Given the description of an element on the screen output the (x, y) to click on. 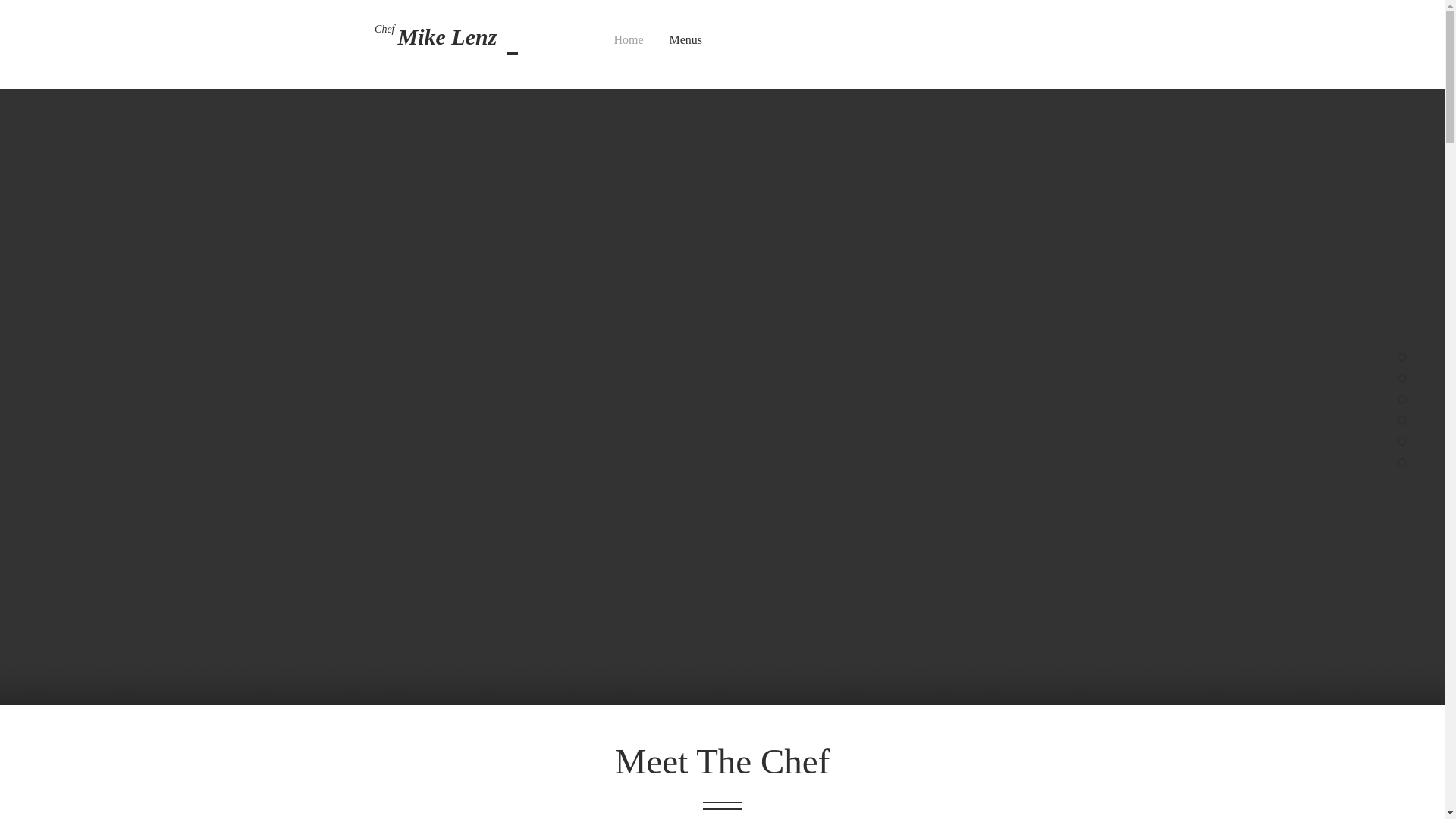
Menus (686, 40)
Chef (384, 29)
Mike Lenz (446, 38)
Home (627, 40)
